Given the description of an element on the screen output the (x, y) to click on. 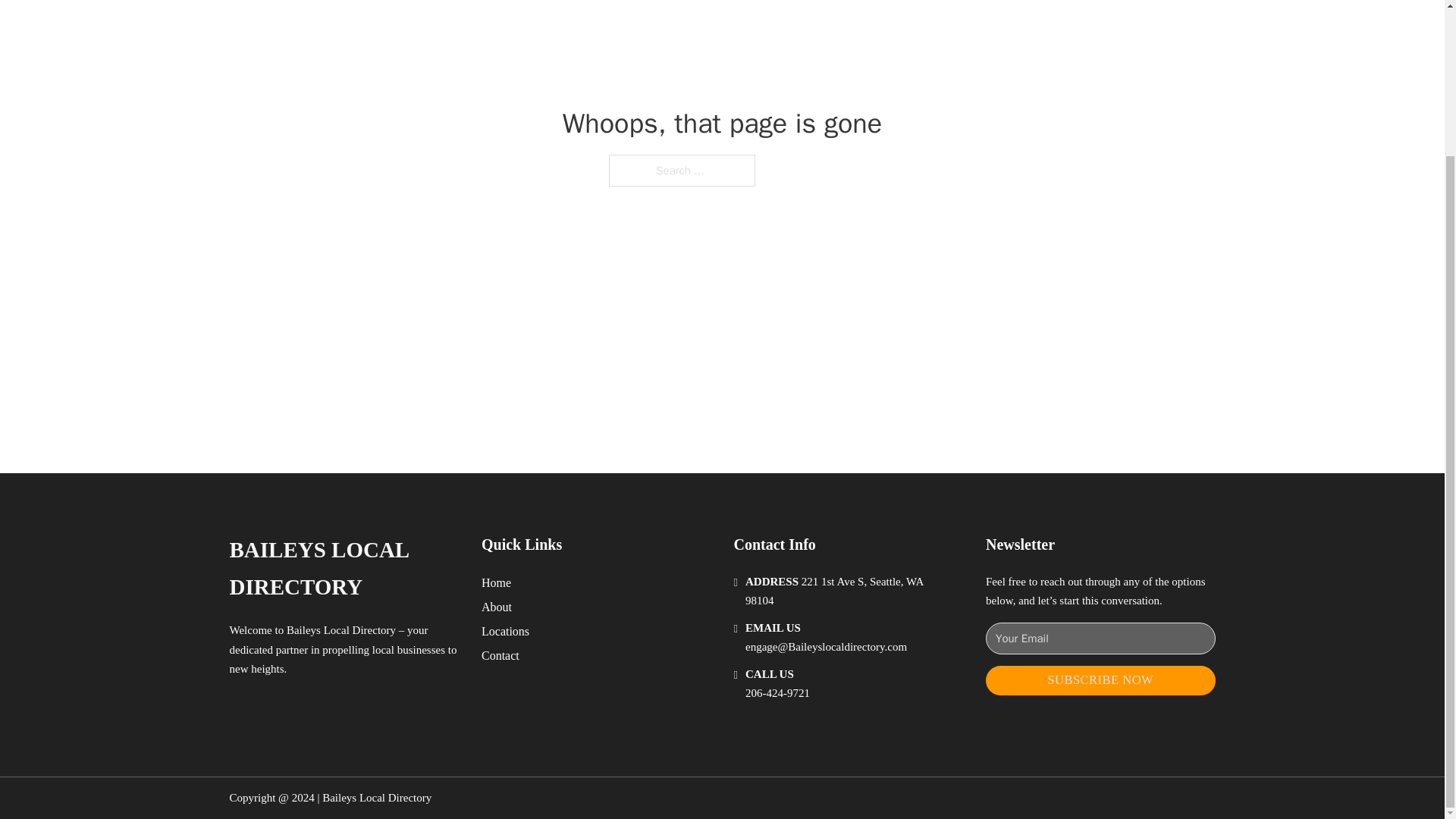
206-424-9721 (777, 693)
BAILEYS LOCAL DIRECTORY (343, 568)
SUBSCRIBE NOW (1100, 680)
Contact (500, 655)
Locations (505, 630)
Home (496, 582)
About (496, 607)
